Given the description of an element on the screen output the (x, y) to click on. 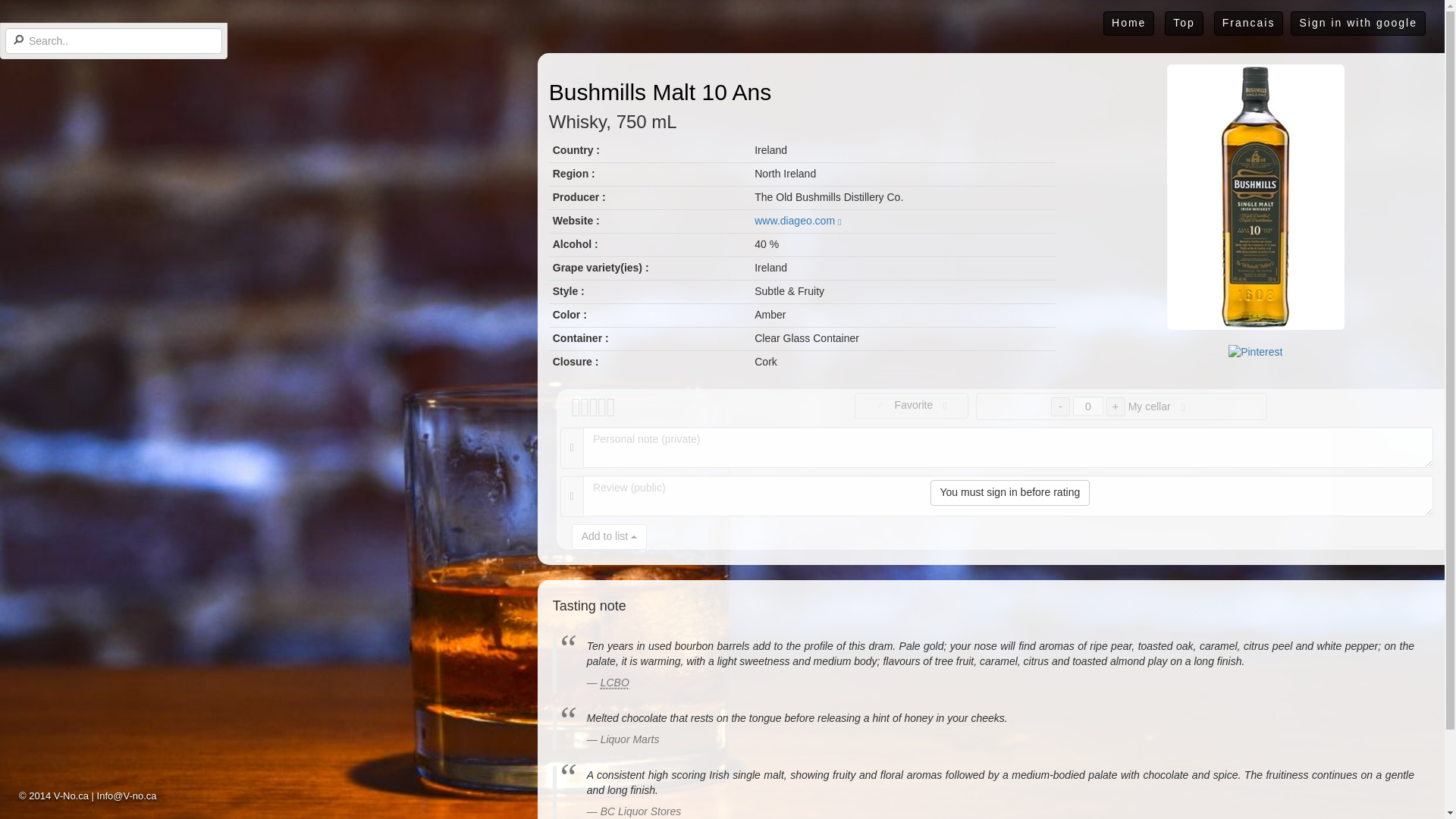
www.diageo.com (797, 220)
bad (575, 407)
regular (592, 407)
Liquor Control Board of Ontario (613, 682)
Home (1128, 23)
0 (1088, 405)
Sign in with google (1357, 23)
Favorite (911, 405)
- (1060, 406)
You must sign in before rating (1010, 492)
Top (1184, 23)
Francais (1249, 23)
gorgeous (609, 407)
poor (582, 407)
Add to list (609, 536)
